Given the description of an element on the screen output the (x, y) to click on. 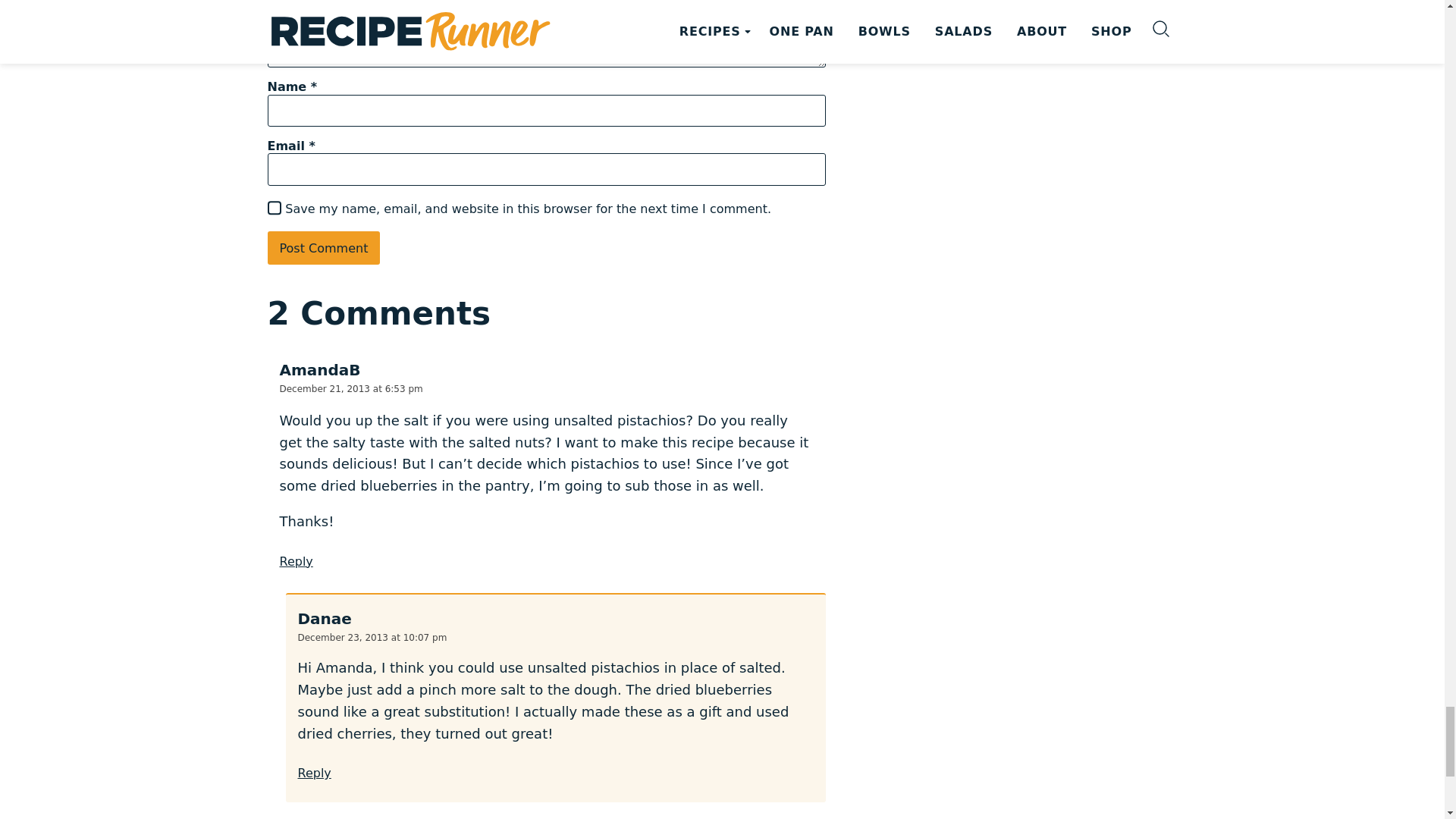
Post Comment (323, 247)
yes (273, 207)
